Given the description of an element on the screen output the (x, y) to click on. 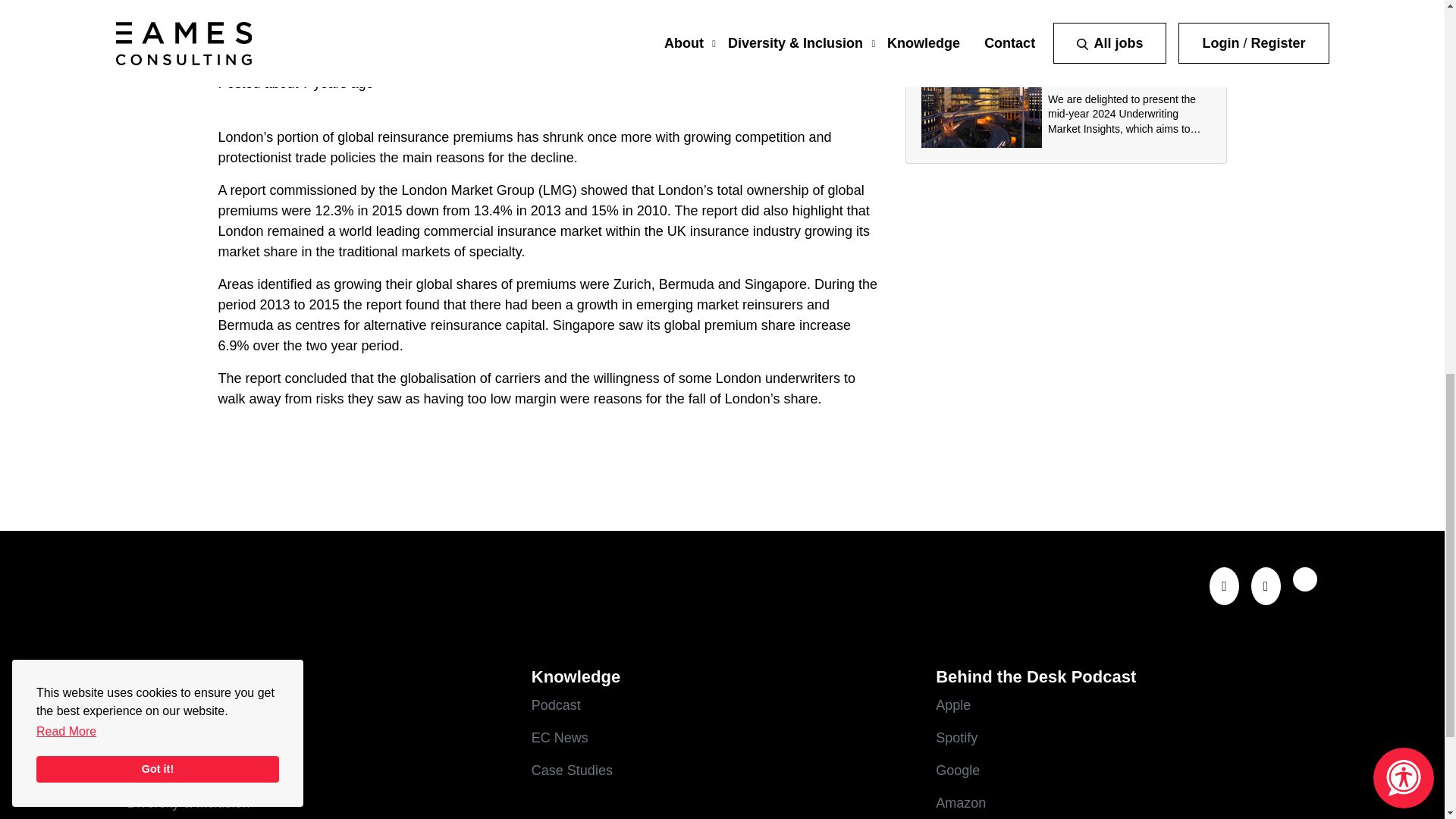
EC News (721, 738)
Careers (318, 705)
Our Team (318, 770)
Case Studies (721, 770)
Podcast (721, 705)
About Us (318, 738)
